Given the description of an element on the screen output the (x, y) to click on. 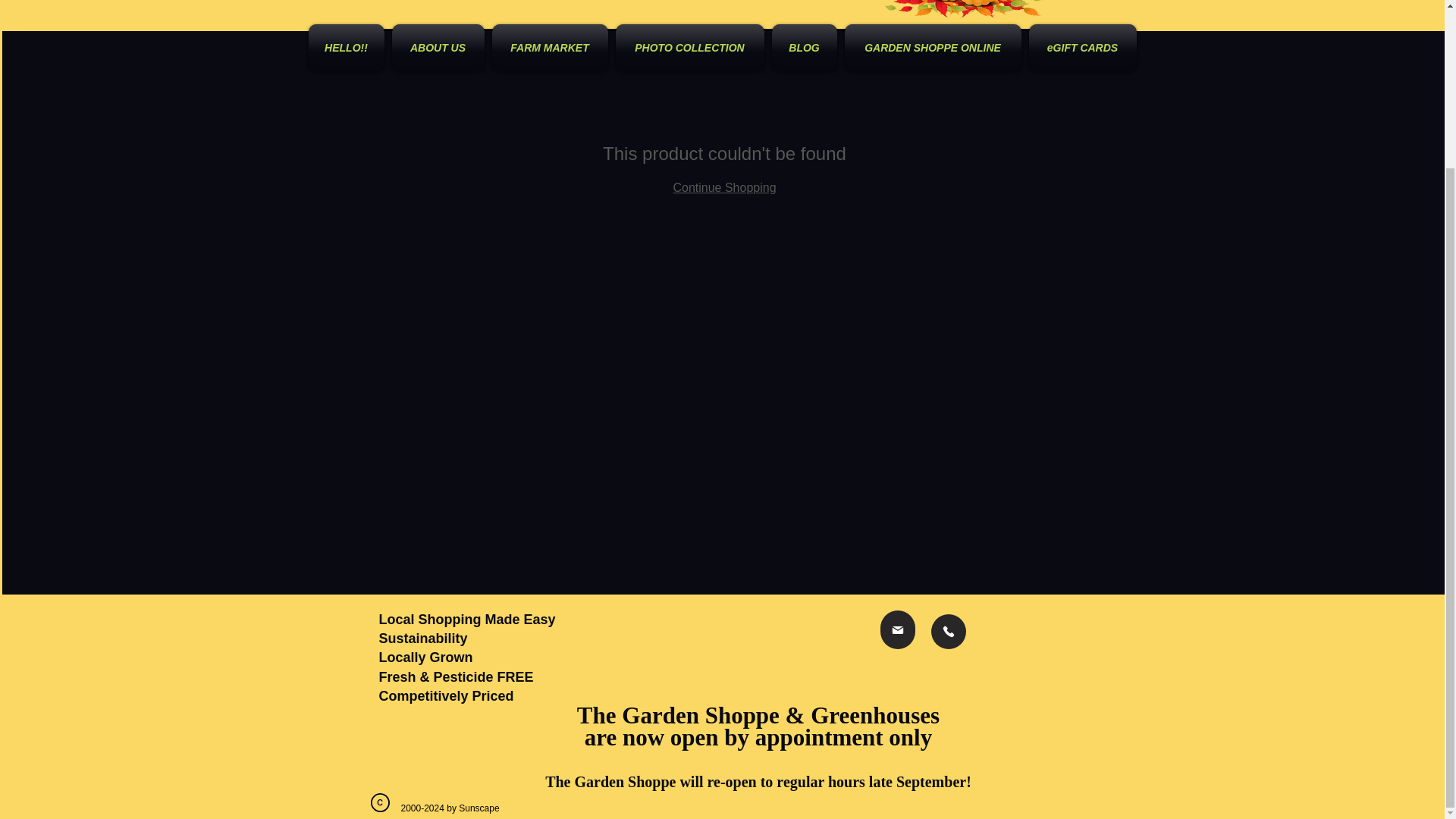
Continue Shopping (724, 187)
ABOUT US (437, 47)
BLOG (803, 47)
PHOTO COLLECTION (689, 47)
FARM MARKET (549, 47)
HELLO!! (347, 47)
Holiday Pumpkins  (963, 9)
eGIFT CARDS (1081, 47)
GARDEN SHOPPE ONLINE (932, 47)
